Given the description of an element on the screen output the (x, y) to click on. 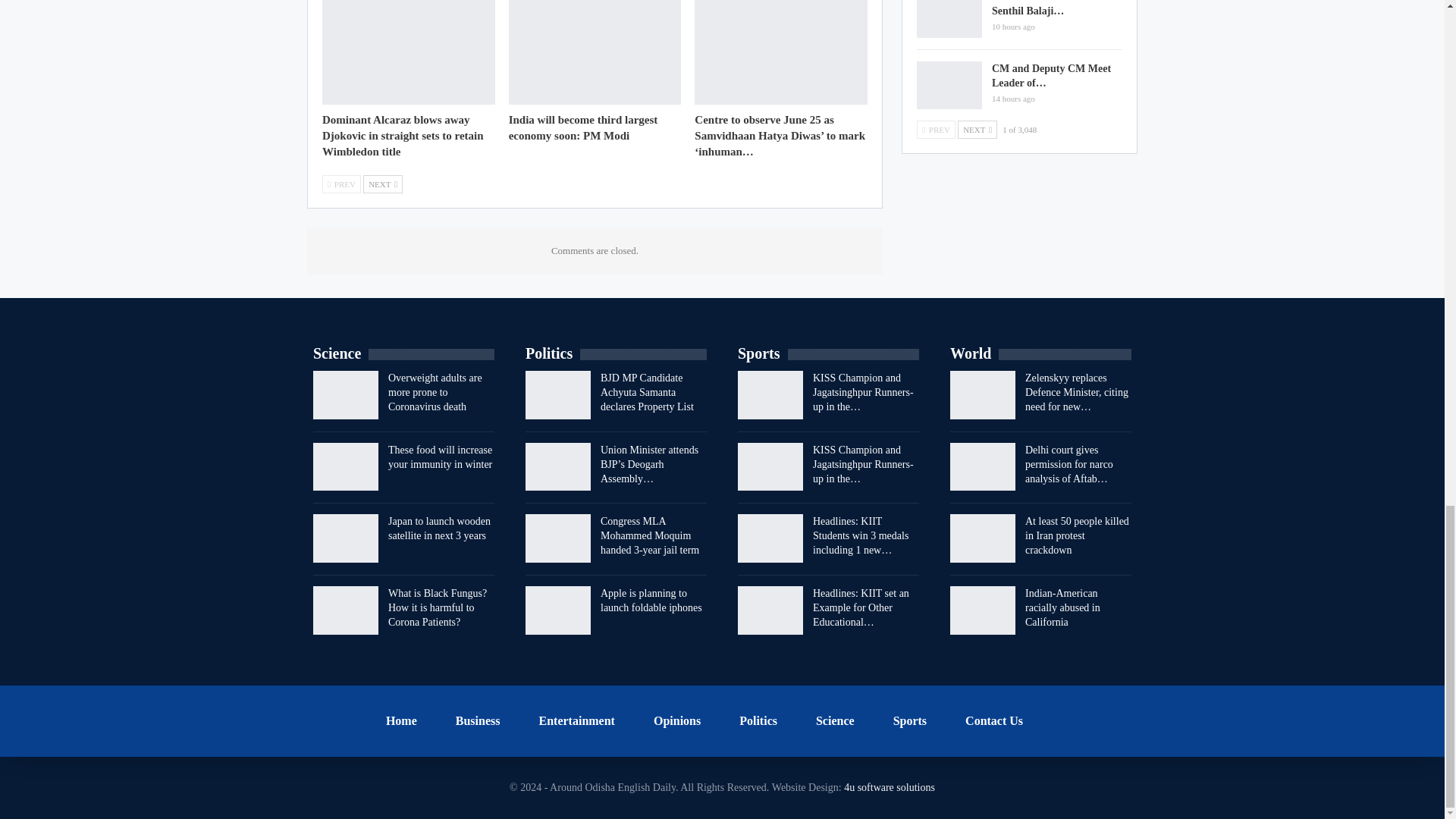
Previous (341, 184)
India will become third largest economy soon: PM Modi (583, 127)
Next (382, 184)
India will become third largest economy soon: PM Modi (594, 52)
